Given the description of an element on the screen output the (x, y) to click on. 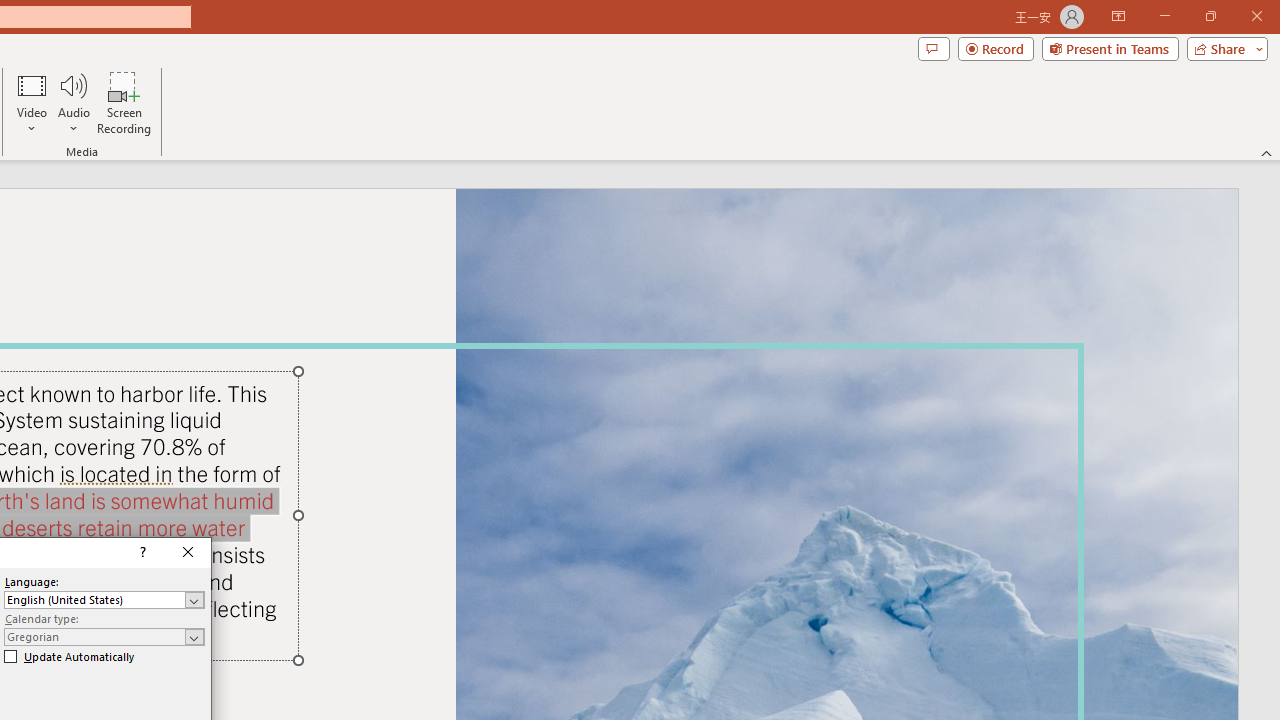
Update Automatically (69, 656)
Screen Recording... (123, 102)
